Given the description of an element on the screen output the (x, y) to click on. 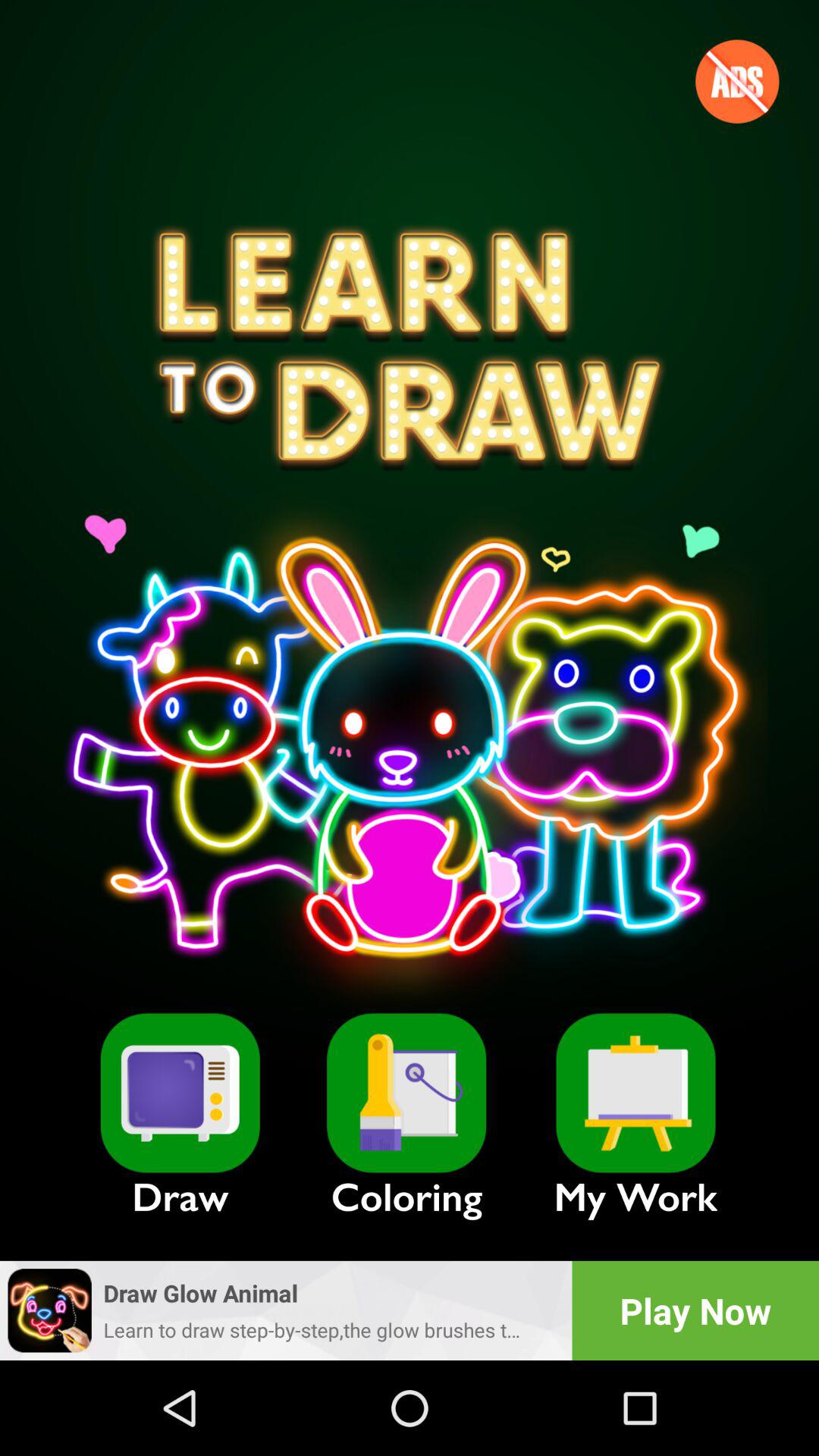
select coloring option (406, 1092)
